Given the description of an element on the screen output the (x, y) to click on. 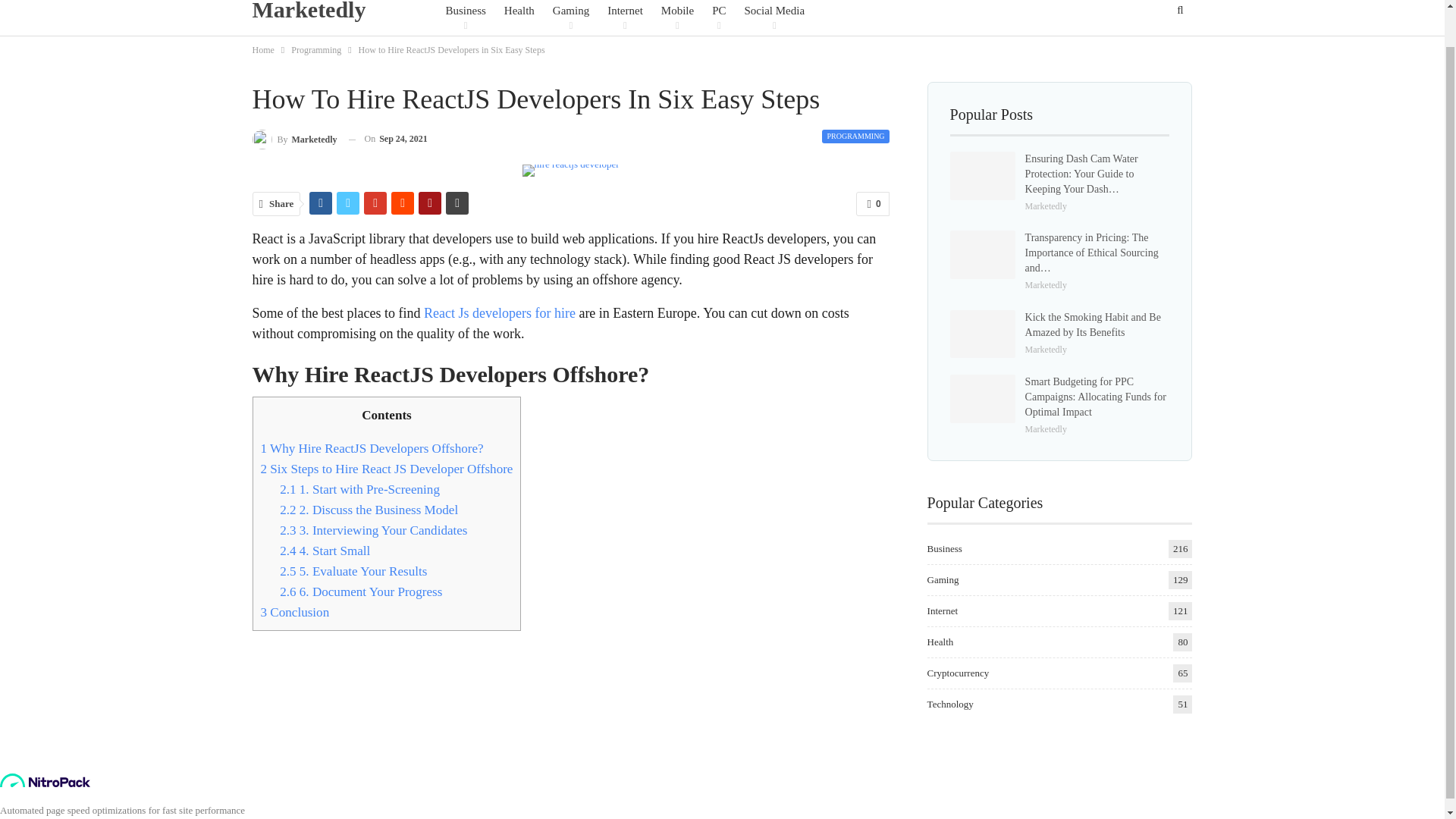
Browse Author Articles (293, 138)
Mobile (677, 18)
Internet (624, 18)
Gaming (570, 18)
Health (519, 18)
PC (718, 18)
Social Media (773, 18)
Marketedly (311, 12)
Business (464, 18)
